Given the description of an element on the screen output the (x, y) to click on. 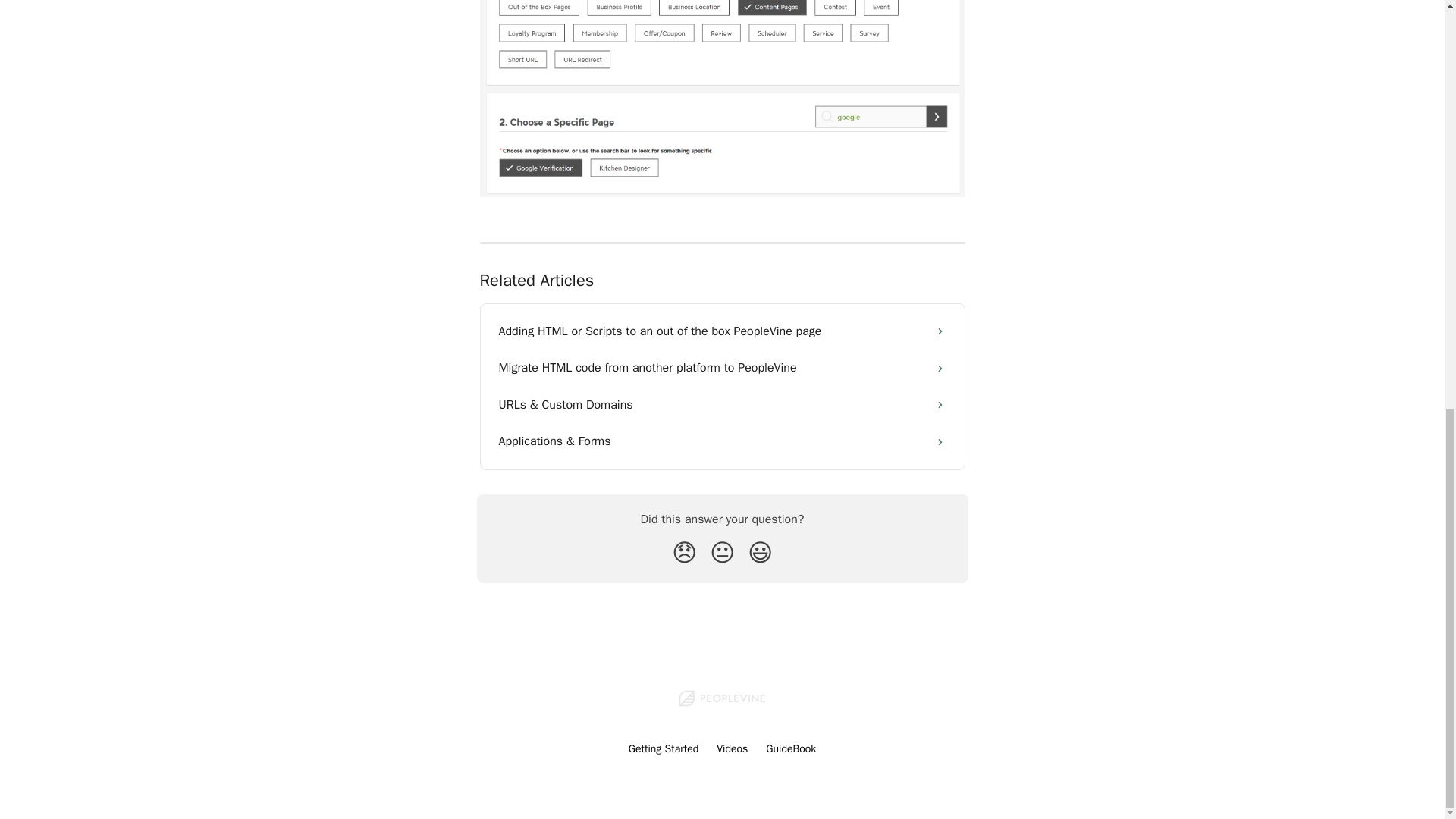
Getting Started (663, 748)
Migrate HTML code from another platform to PeopleVine (722, 367)
GuideBook (790, 748)
Videos (732, 748)
Adding HTML or Scripts to an out of the box PeopleVine page (722, 330)
